Given the description of an element on the screen output the (x, y) to click on. 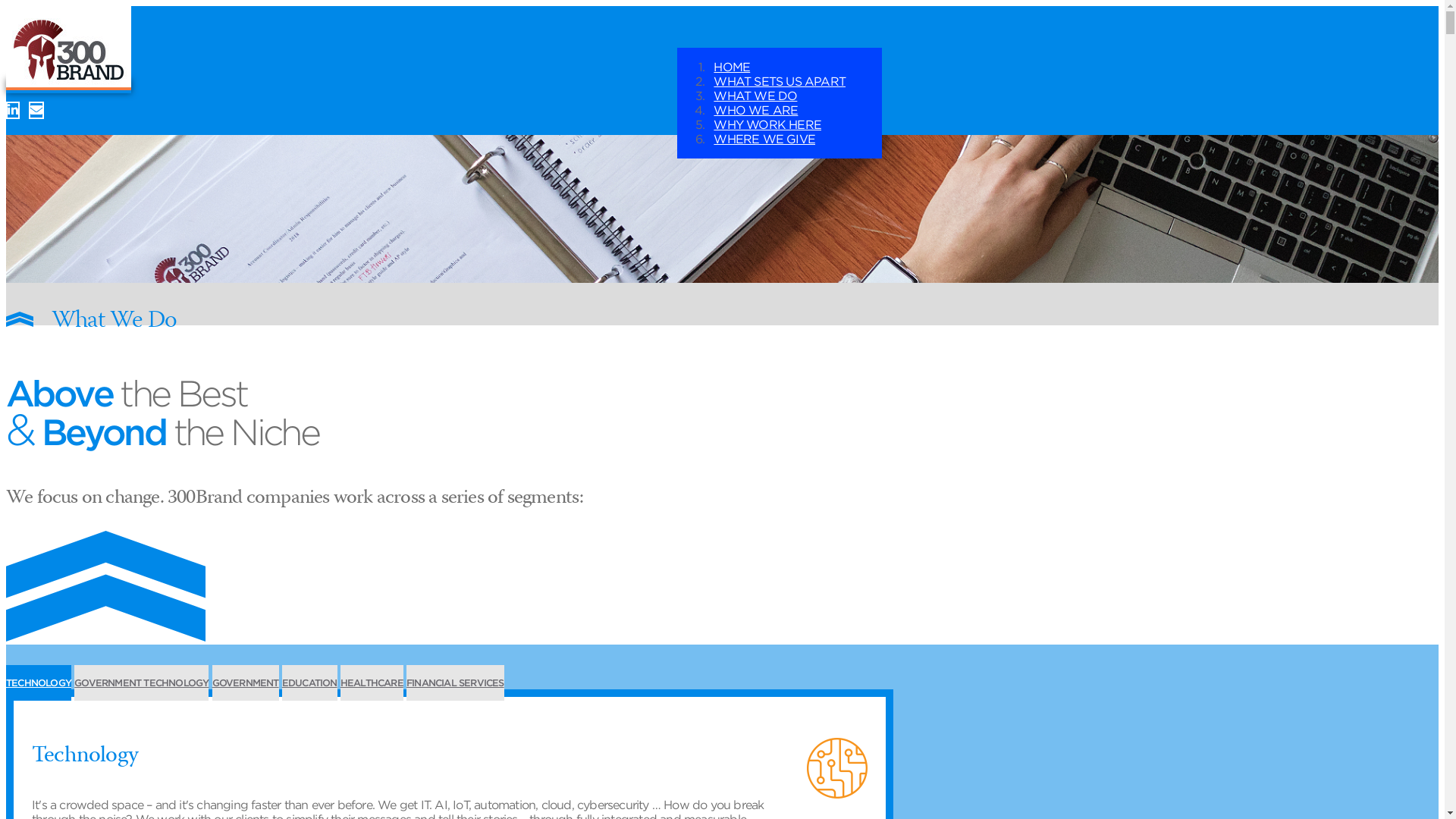
GOVERNMENT Element type: text (245, 682)
WHO WE ARE Element type: text (770, 110)
WHY WORK HERE Element type: text (782, 124)
FINANCIAL SERVICES Element type: text (455, 682)
HOME Element type: text (746, 66)
WHERE WE GIVE Element type: text (779, 138)
HEALTHCARE Element type: text (371, 682)
Linkedin Element type: text (12, 110)
Email Element type: text (35, 110)
EDUCATION Element type: text (309, 682)
WHAT SETS US APART Element type: text (794, 81)
TECHNOLOGY Element type: text (38, 682)
GOVERNMENT TECHNOLOGY Element type: text (141, 682)
WHAT WE DO Element type: text (770, 95)
